Given the description of an element on the screen output the (x, y) to click on. 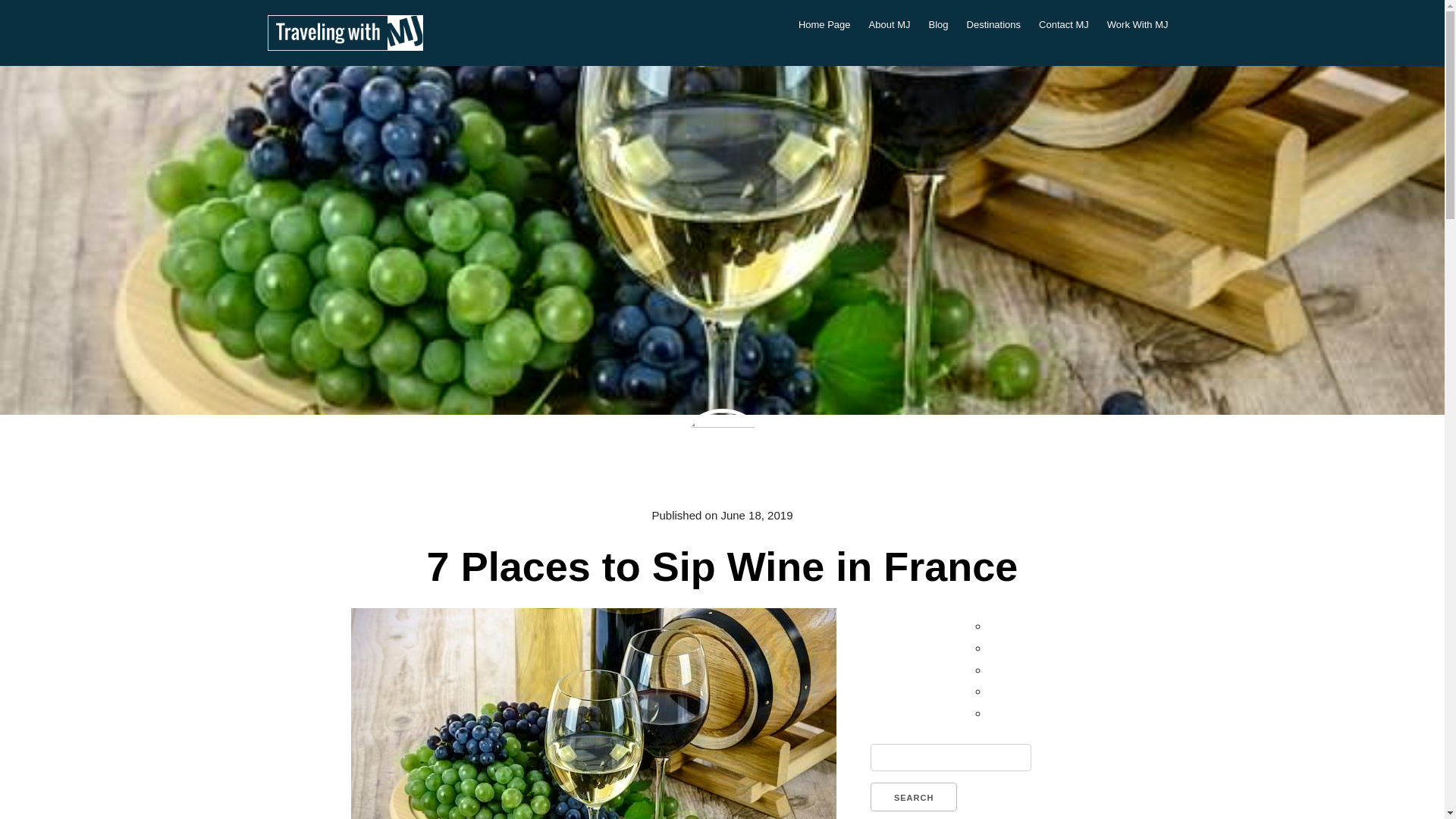
Search (913, 796)
Search (913, 796)
7 Places to Sip Wine in France (721, 565)
Contact MJ (1063, 25)
About MJ (890, 25)
Work With MJ (1137, 25)
7 Places to Sip Wine in France (721, 565)
Destinations (994, 25)
Home Page (824, 25)
